Given the description of an element on the screen output the (x, y) to click on. 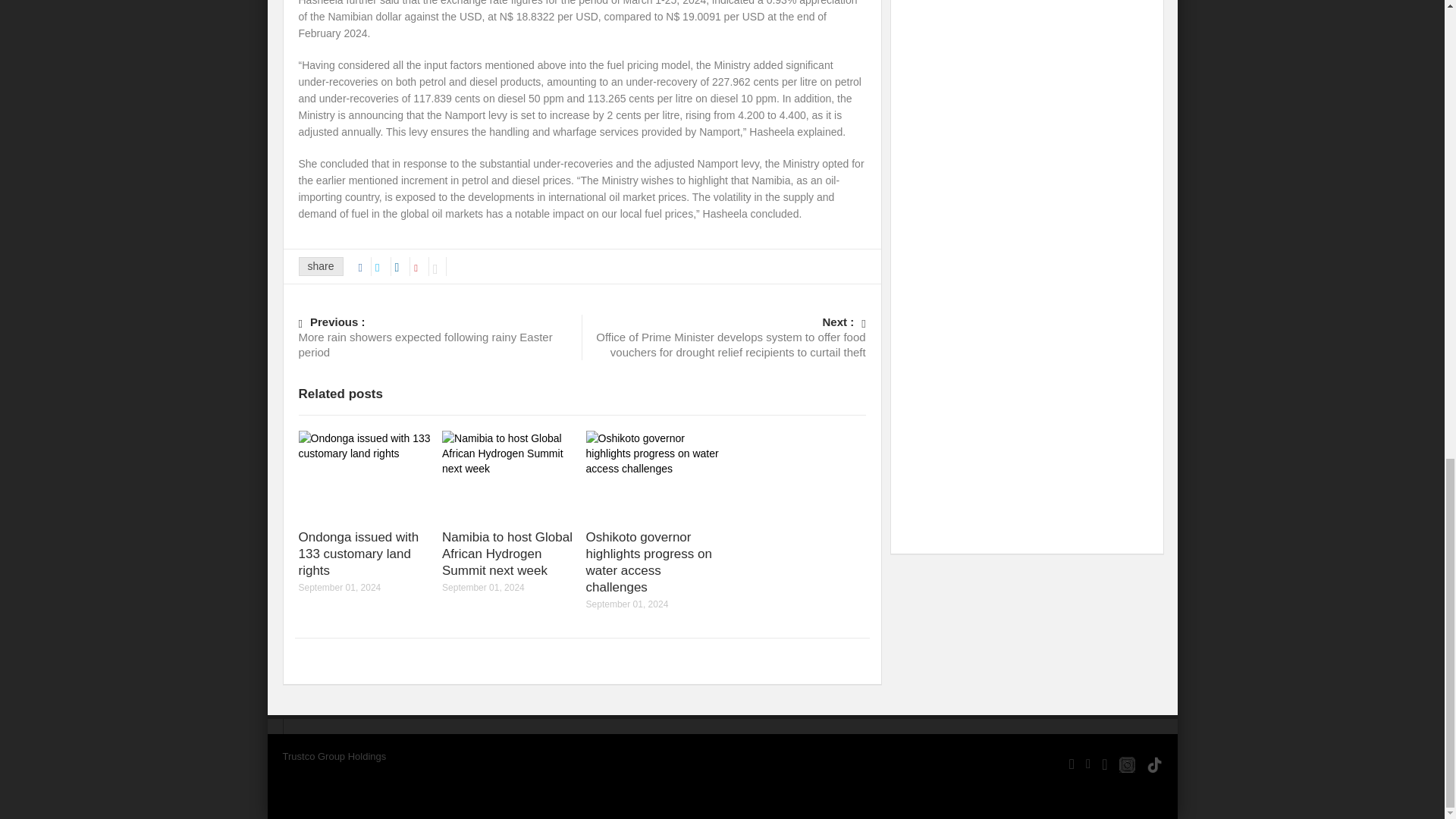
Ondonga issued with 133 customary land rights (358, 553)
